Given the description of an element on the screen output the (x, y) to click on. 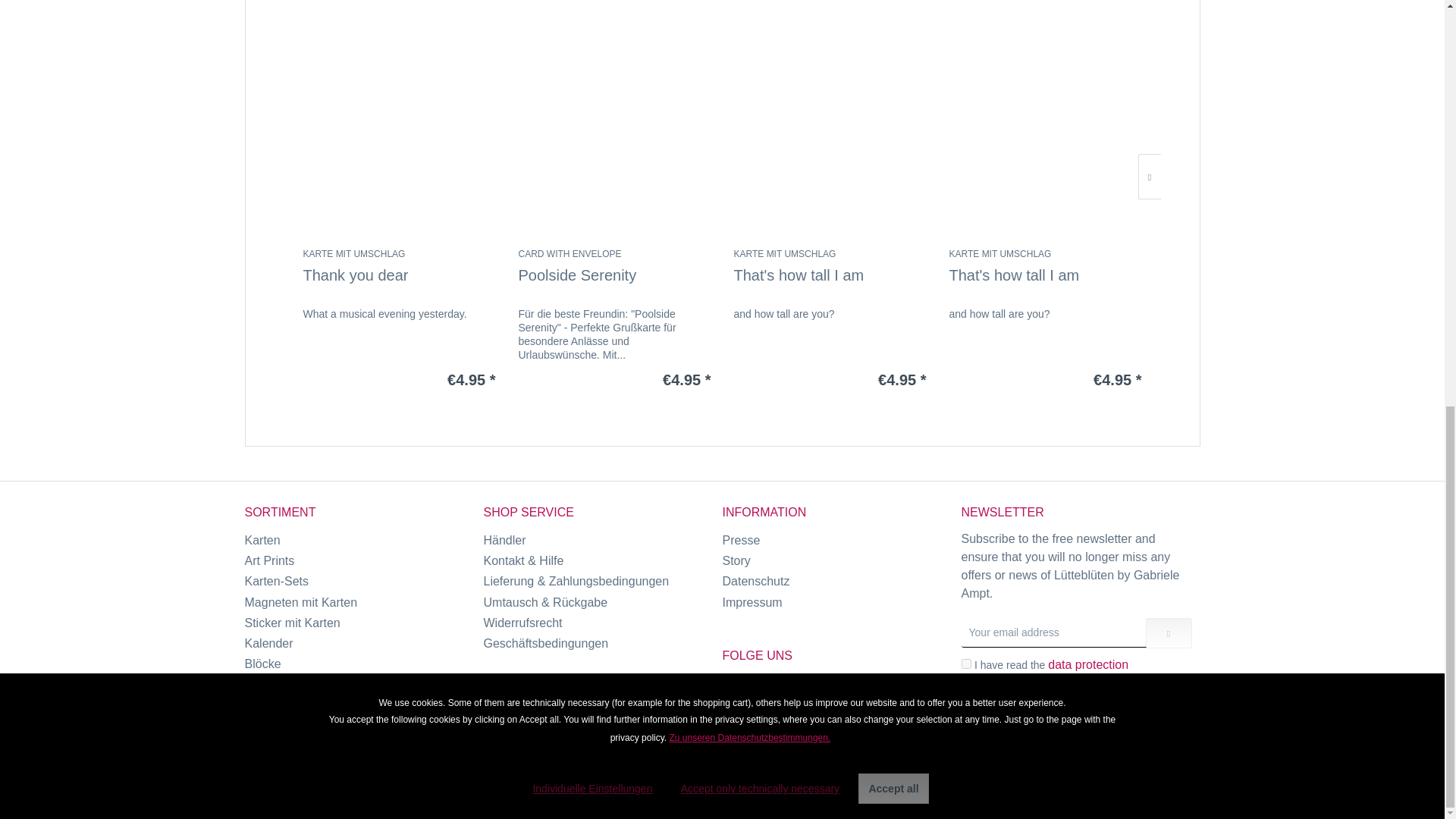
1 (965, 664)
